Given the description of an element on the screen output the (x, y) to click on. 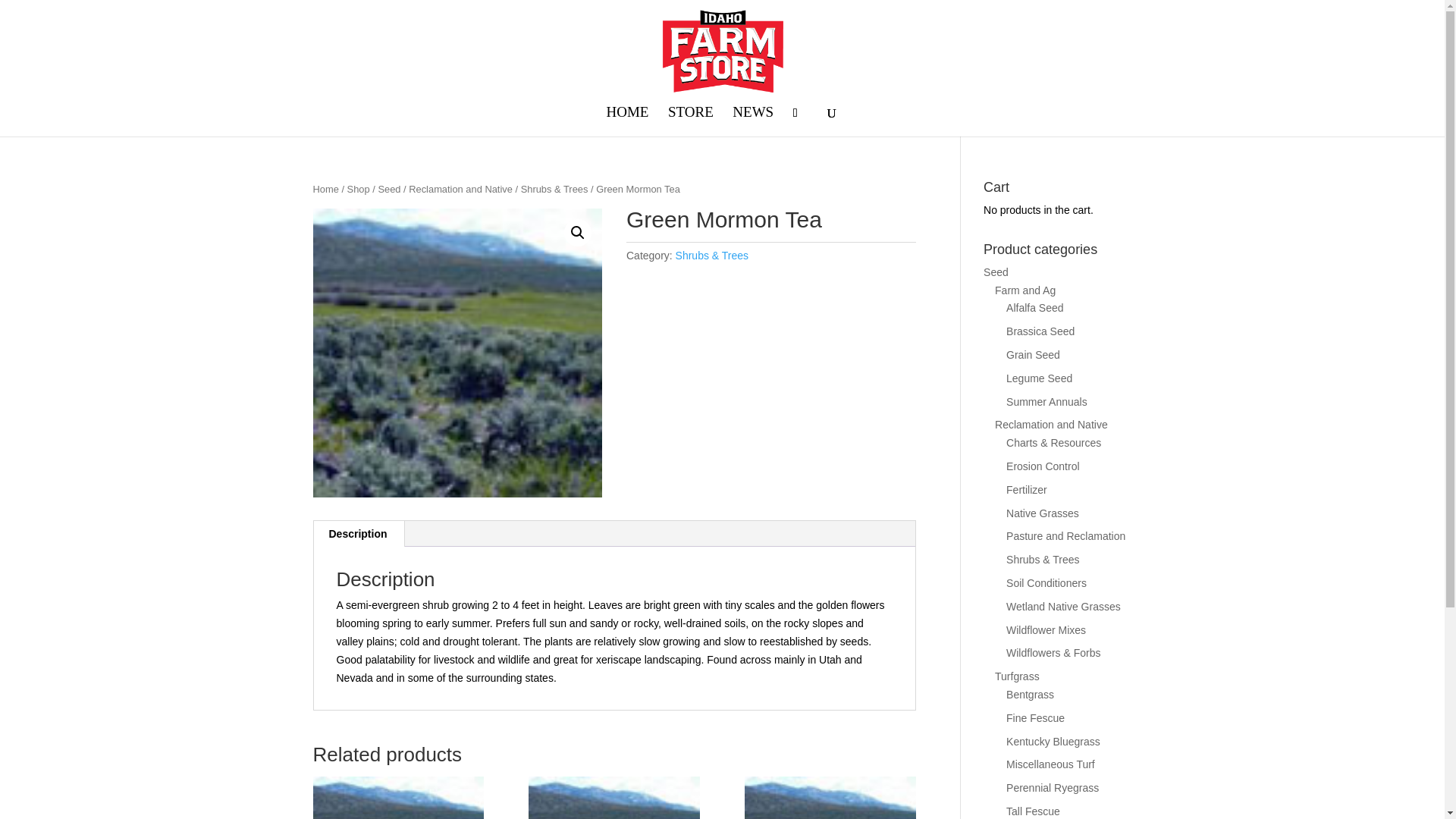
Wetland Native Grasses (1063, 606)
Bentgrass (1030, 694)
Native Grasses (1042, 512)
Reclamation and Native (1051, 424)
Shop (358, 188)
Wildflower Mixes (1046, 630)
Summer Annuals (1046, 401)
Turfgrass (1016, 676)
Brassica Seed (1040, 331)
Chokecherry (613, 797)
Erosion Control (1043, 466)
Seed (996, 272)
STORE (690, 121)
NEWS (752, 121)
Pasture and Reclamation (1065, 535)
